Given the description of an element on the screen output the (x, y) to click on. 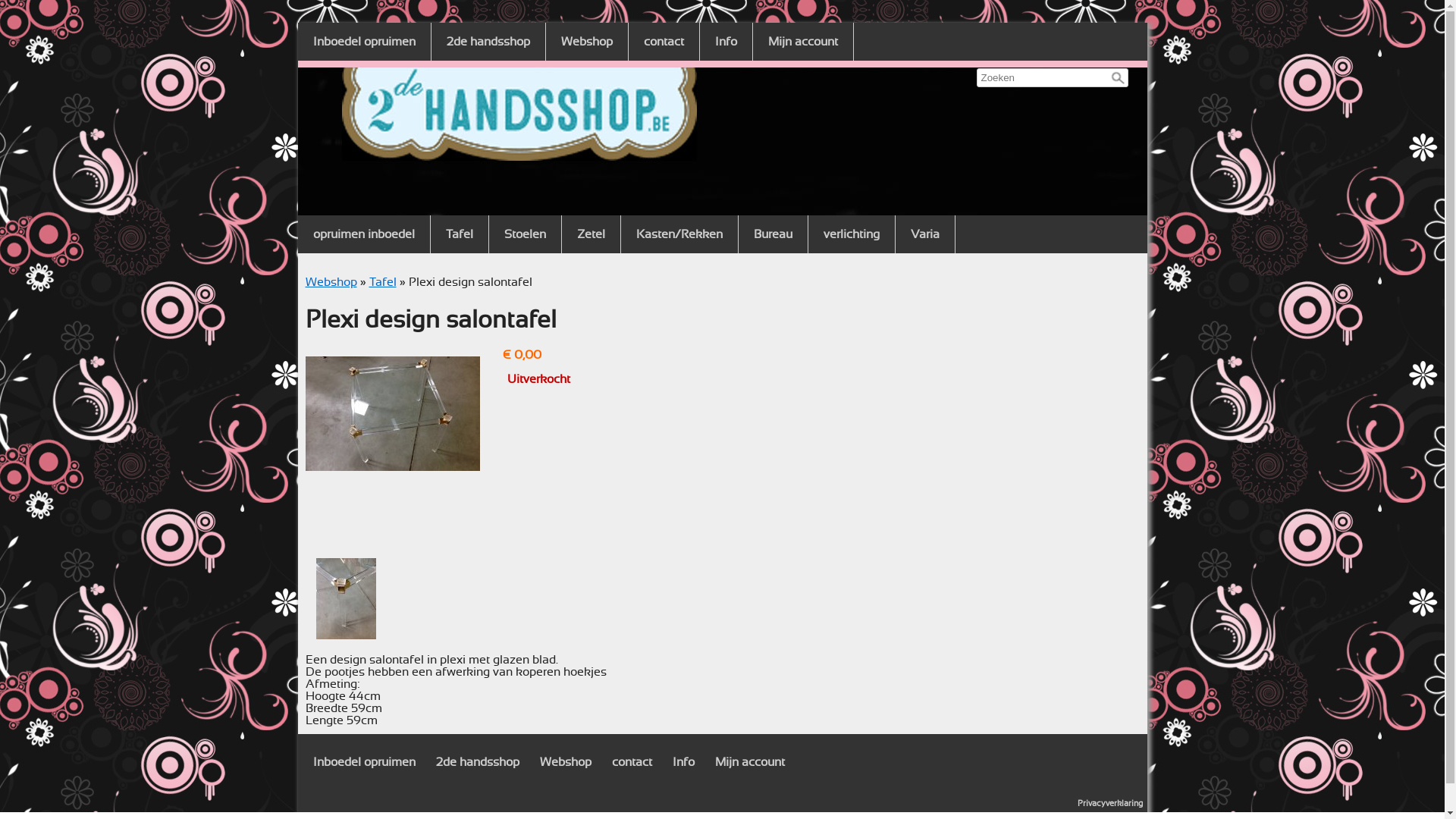
Mijn account Element type: text (748, 761)
2de handsshop Element type: text (476, 761)
Webshop Element type: text (587, 41)
Inboedel opruimen Element type: text (363, 761)
Stoelen Element type: text (524, 234)
Varia Element type: text (923, 234)
Tafel Element type: text (459, 234)
Tafel Element type: text (381, 282)
Info Element type: text (682, 761)
Webshop Element type: text (330, 282)
Webshop Element type: text (565, 761)
contact Element type: text (630, 761)
Bureau Element type: text (772, 234)
Kasten/Rekken Element type: text (678, 234)
2de handsshop Element type: text (487, 41)
opruimen inboedel Element type: text (363, 234)
contact Element type: text (663, 41)
Privacyverklaring Element type: text (1109, 803)
verlichting Element type: text (851, 234)
Inboedel opruimen Element type: text (363, 41)
Zetel Element type: text (590, 234)
Mijn account Element type: text (802, 41)
Info Element type: text (725, 41)
